Given the description of an element on the screen output the (x, y) to click on. 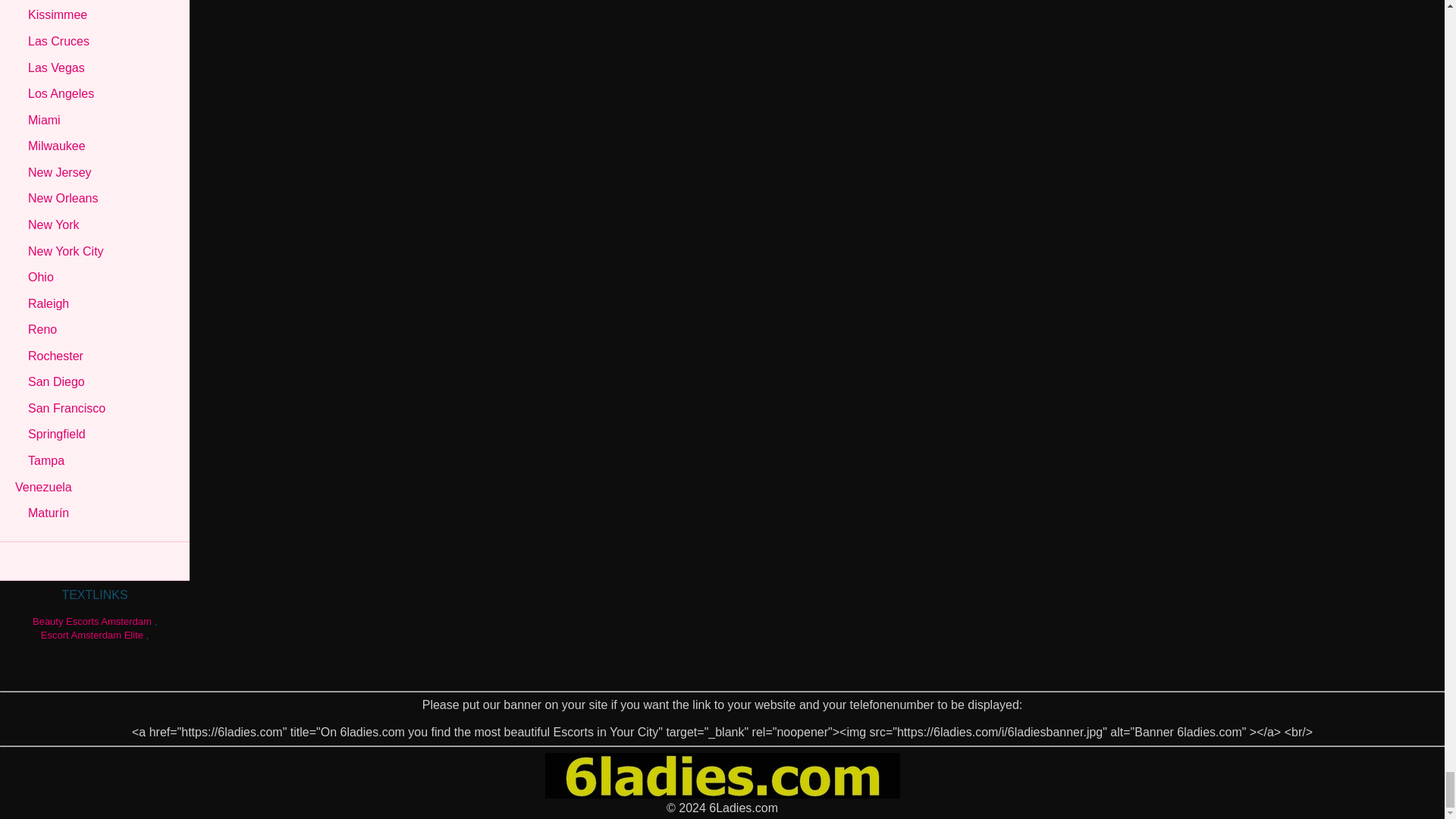
Beauty Escorts Amsterdam (91, 621)
Escort Amsterdam Elite (91, 634)
6ladies.com The Most Beautiful Escorts in Your City! (721, 793)
